Given the description of an element on the screen output the (x, y) to click on. 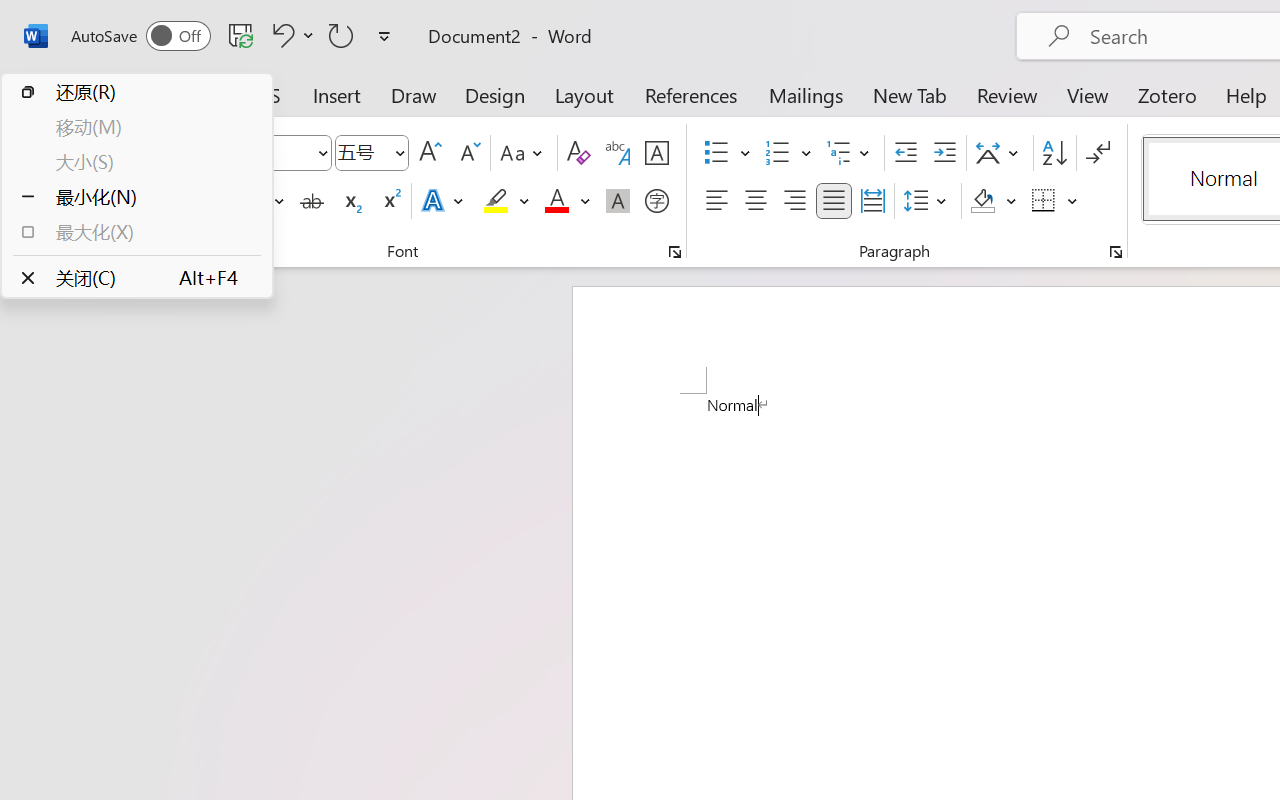
Text Highlight Color (506, 201)
Align Left (716, 201)
